Given the description of an element on the screen output the (x, y) to click on. 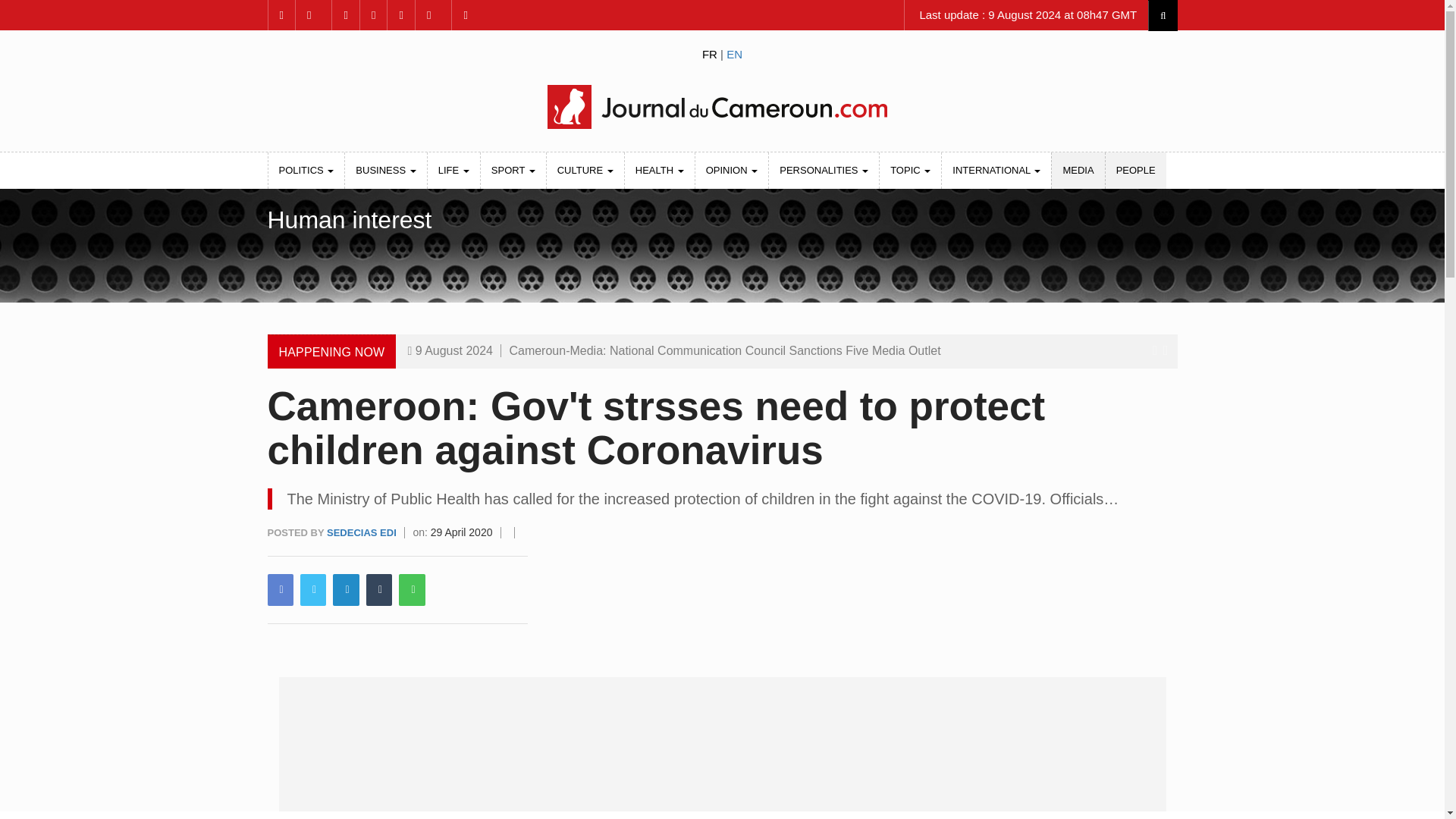
POLITICS (306, 170)
EN (734, 53)
FR (709, 53)
JDC (721, 106)
Last update : 9 August 2024 at 08h47 GMT (1026, 15)
BUSINESS (385, 170)
